Given the description of an element on the screen output the (x, y) to click on. 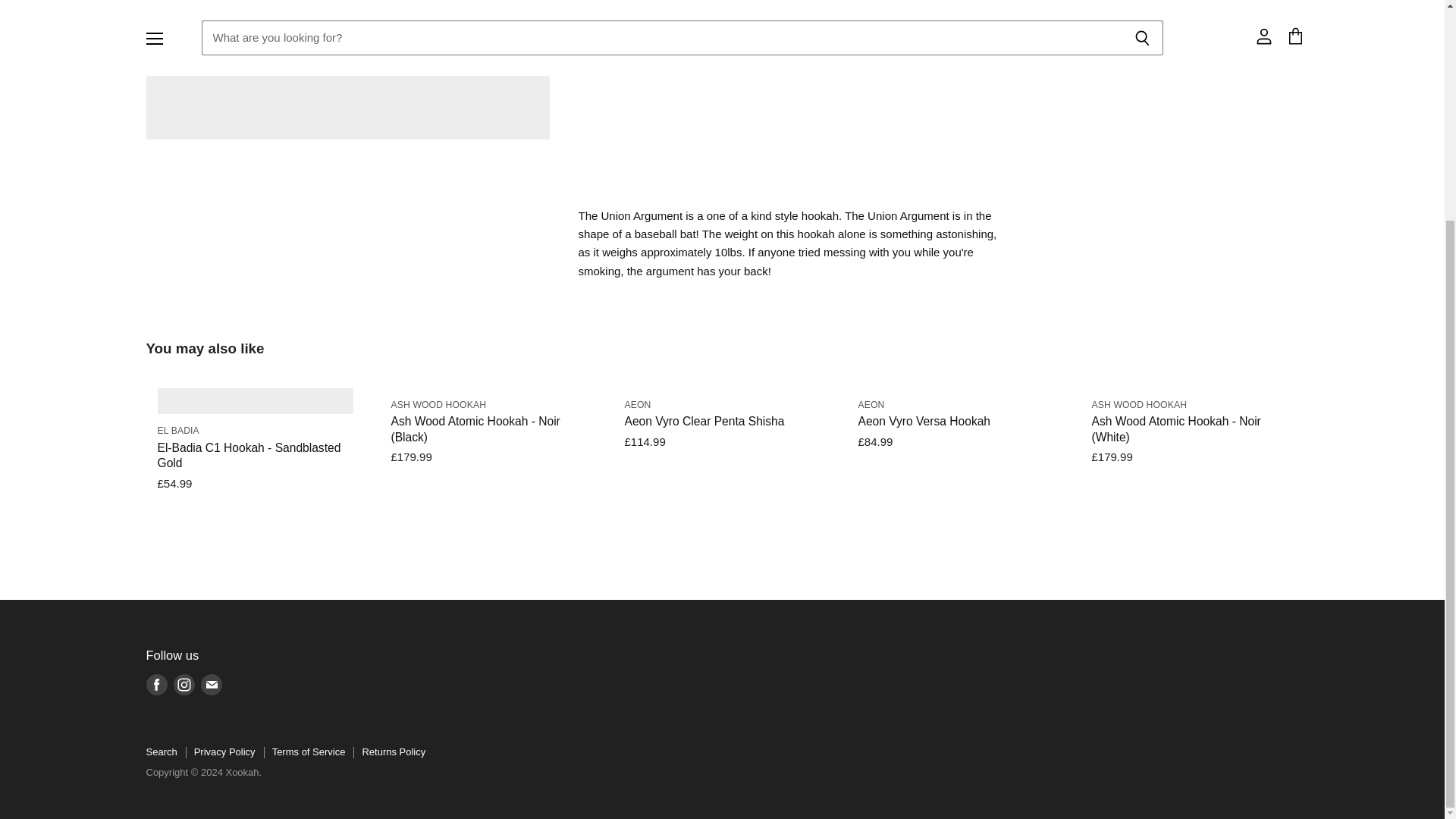
Instagram (183, 684)
Facebook (156, 684)
E-mail (210, 684)
